Given the description of an element on the screen output the (x, y) to click on. 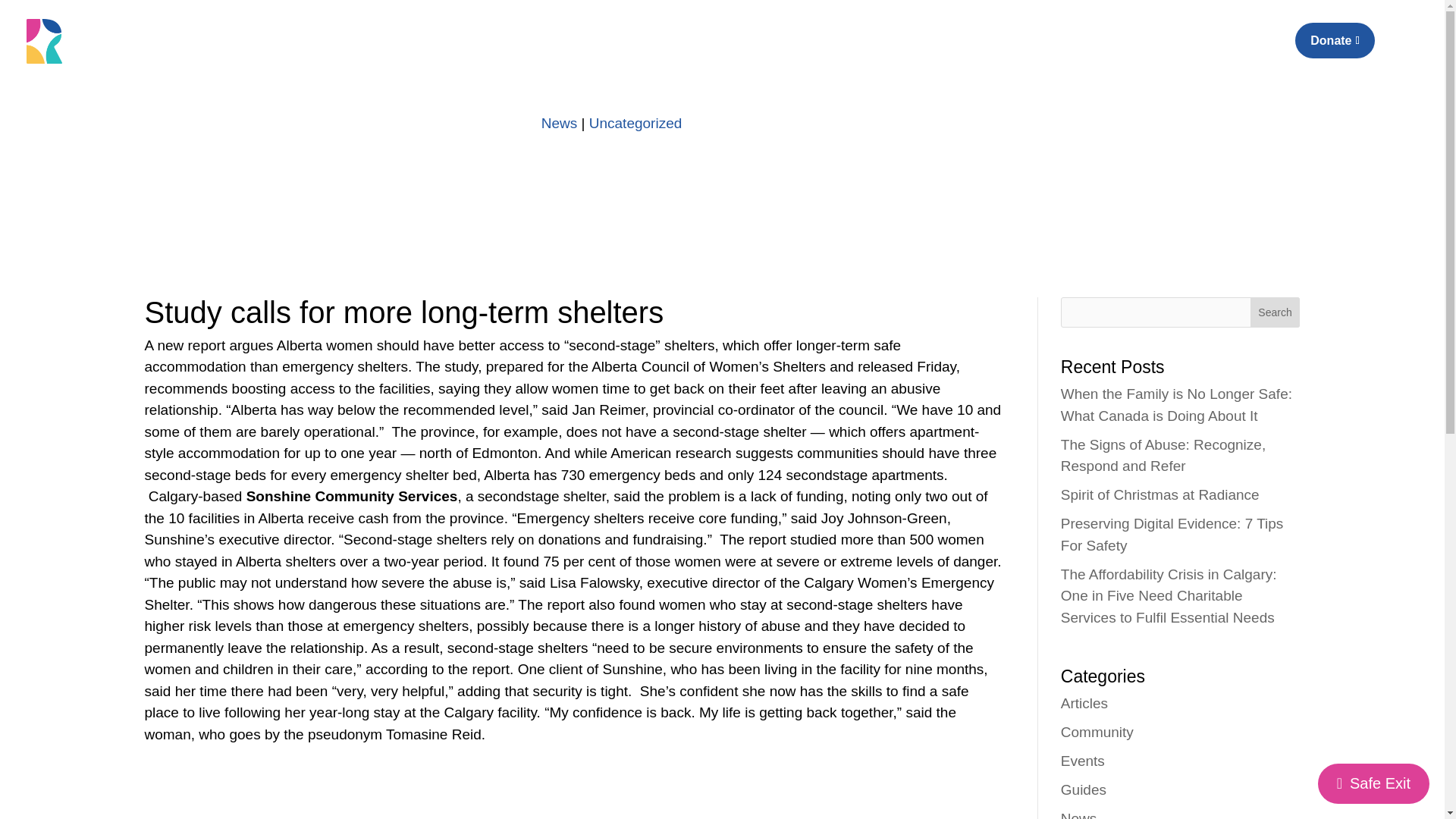
Articles (1084, 702)
Get Help (1201, 49)
Search (1275, 312)
News (559, 123)
Preserving Digital Evidence: 7 Tips For Safety (1172, 534)
Community (1097, 731)
Uncategorized (635, 123)
Get Involved (1117, 49)
What We Do (1022, 49)
Guides (1083, 788)
Who We Are (927, 49)
Donate (1334, 40)
News (1079, 814)
